Given the description of an element on the screen output the (x, y) to click on. 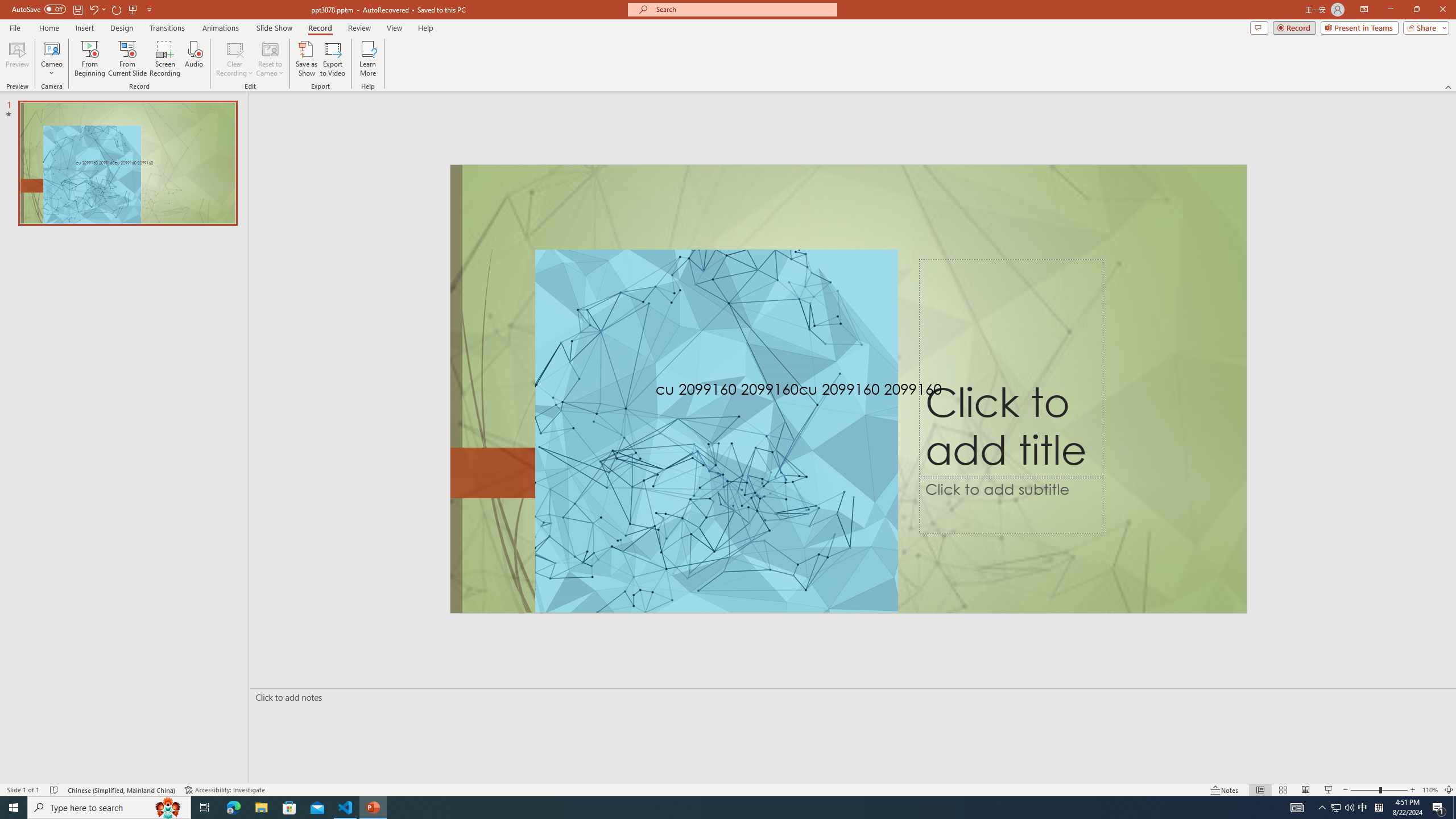
Spell Check No Errors (54, 790)
Ribbon Display Options (1364, 9)
